Given the description of an element on the screen output the (x, y) to click on. 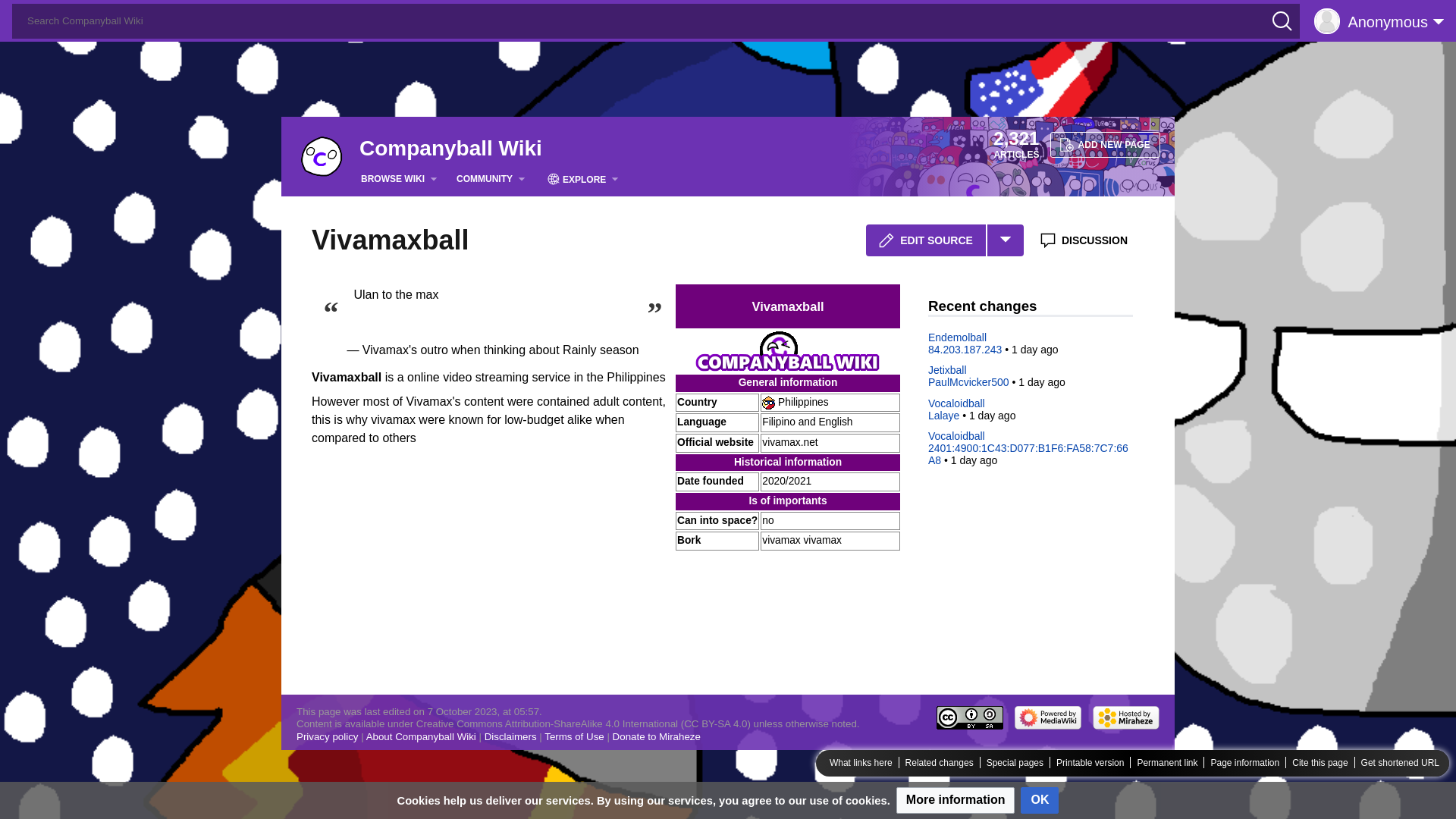
COMMUNITY (494, 178)
BROWSE WIKI (401, 178)
ADD NEW PAGE (1104, 144)
Go (16, 13)
Add New Page (1104, 144)
Endemolball (957, 337)
Visit the main page (321, 154)
Companyball Wiki (450, 148)
